Given the description of an element on the screen output the (x, y) to click on. 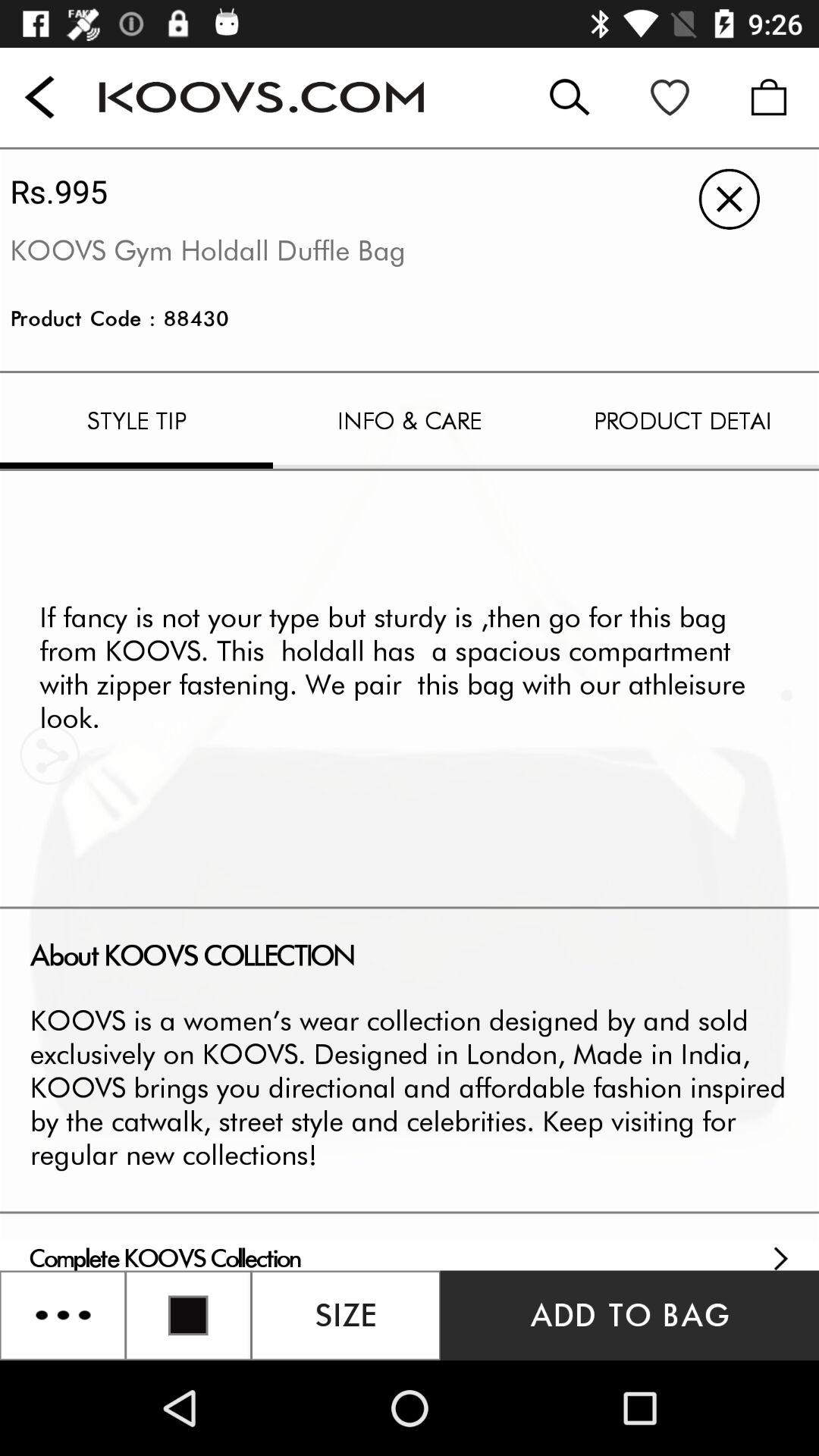
click on the back button on the top left (39, 96)
go to the option which is left side to size option (188, 1315)
